Given the description of an element on the screen output the (x, y) to click on. 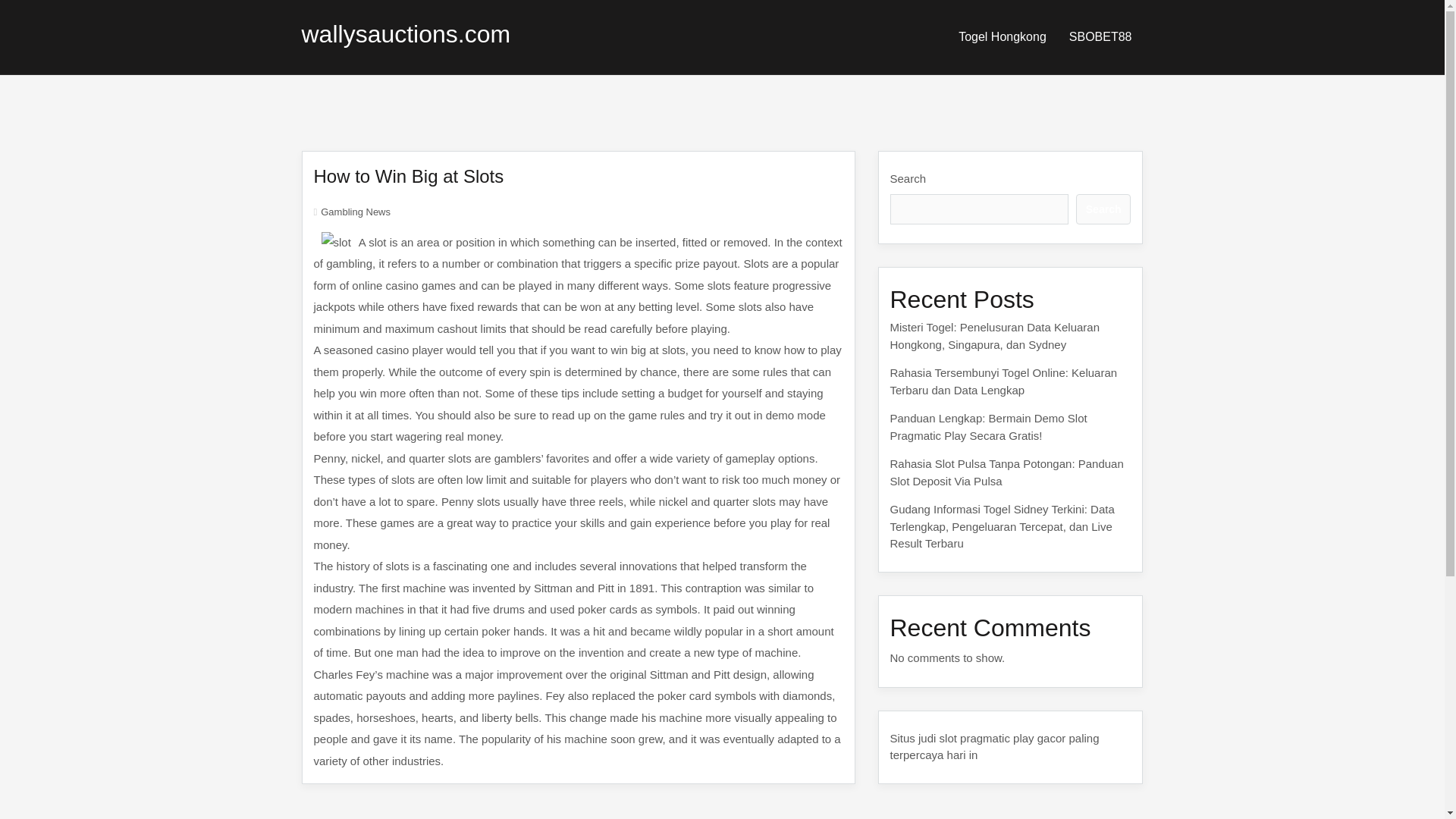
togel hongkong (1002, 36)
SBOBET88 (1100, 36)
Search (1103, 209)
How to Win Big at Slots (408, 176)
Togel Hongkong (1002, 36)
SBOBET88 (1100, 36)
Gambling News (355, 211)
wallysauctions.com (406, 33)
slot pragmatic play (986, 737)
